Given the description of an element on the screen output the (x, y) to click on. 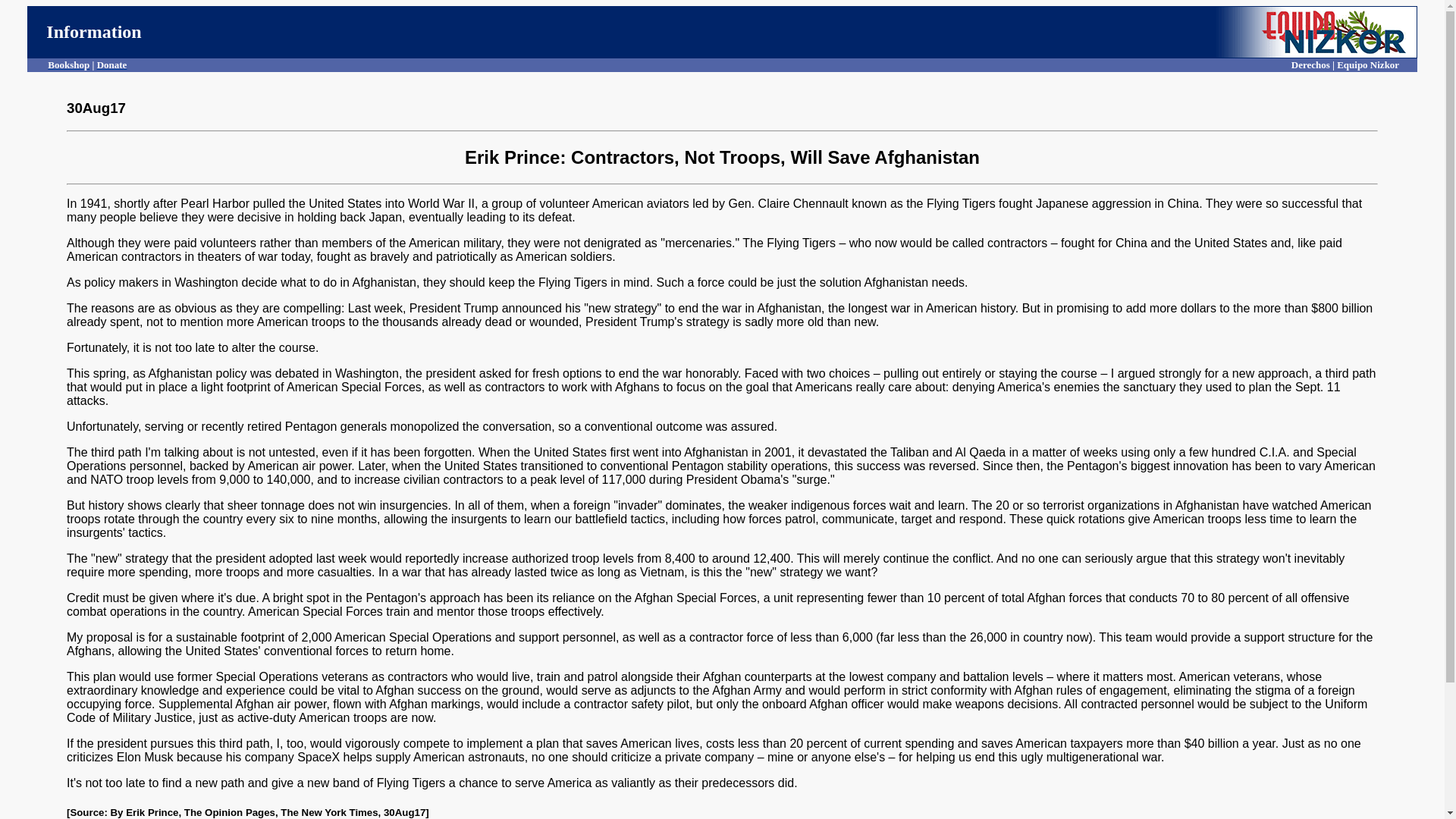
Donate (112, 64)
Bookshop (68, 64)
